Given the description of an element on the screen output the (x, y) to click on. 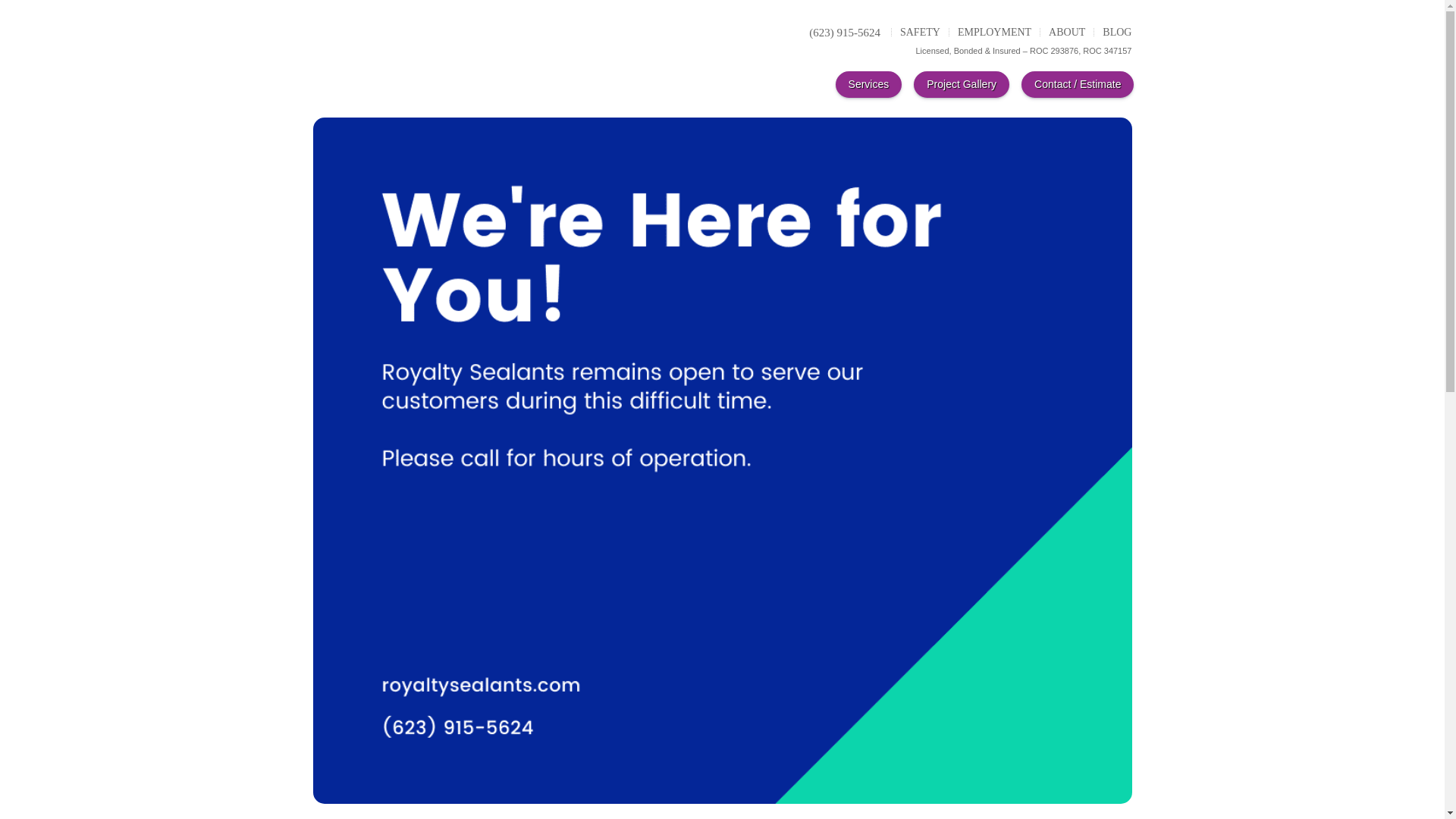
ABOUT (1066, 31)
SAFETY (919, 31)
BLOG (1116, 31)
Project Gallery (961, 84)
EMPLOYMENT (994, 31)
Services (868, 84)
